Given the description of an element on the screen output the (x, y) to click on. 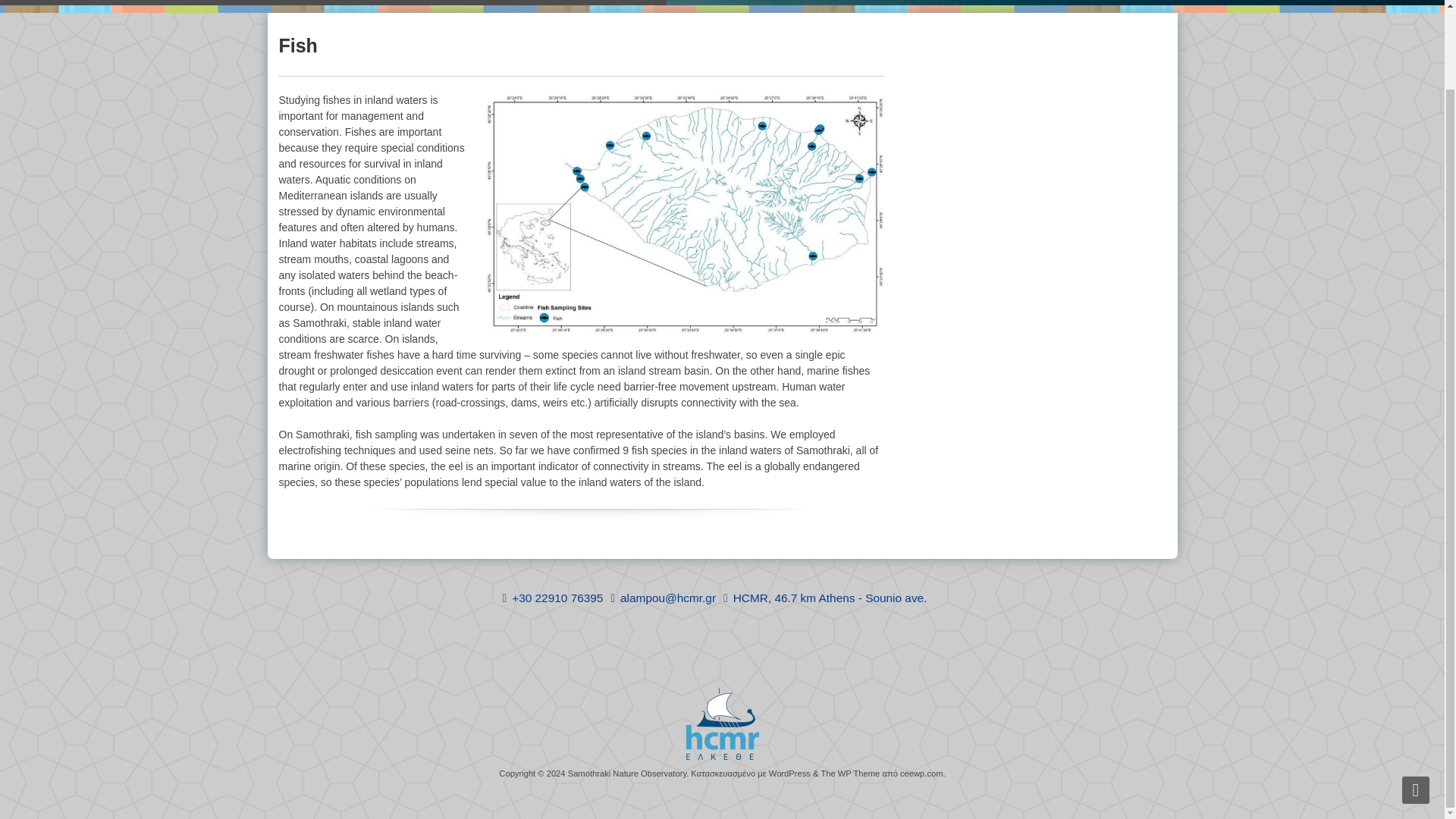
Meteo (288, 2)
Projects (230, 2)
Research (163, 2)
People (414, 2)
Home (26, 2)
Activities (350, 2)
Samothraki Nature Observatory (626, 773)
The Island (90, 2)
